Given the description of an element on the screen output the (x, y) to click on. 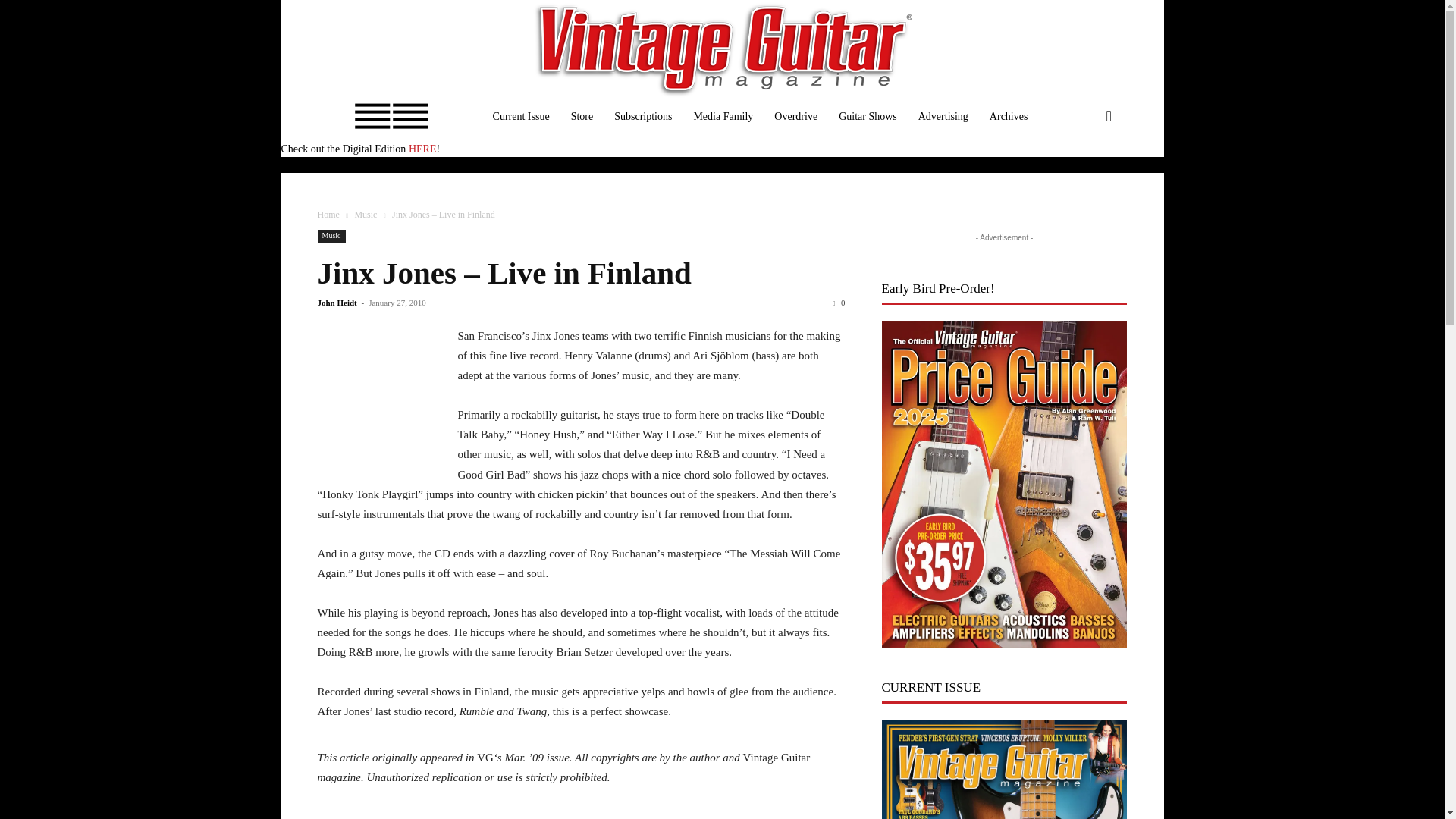
Browse Vintage Guitar Store (582, 116)
Table of Contents (520, 116)
View all posts in Music (365, 214)
